Given the description of an element on the screen output the (x, y) to click on. 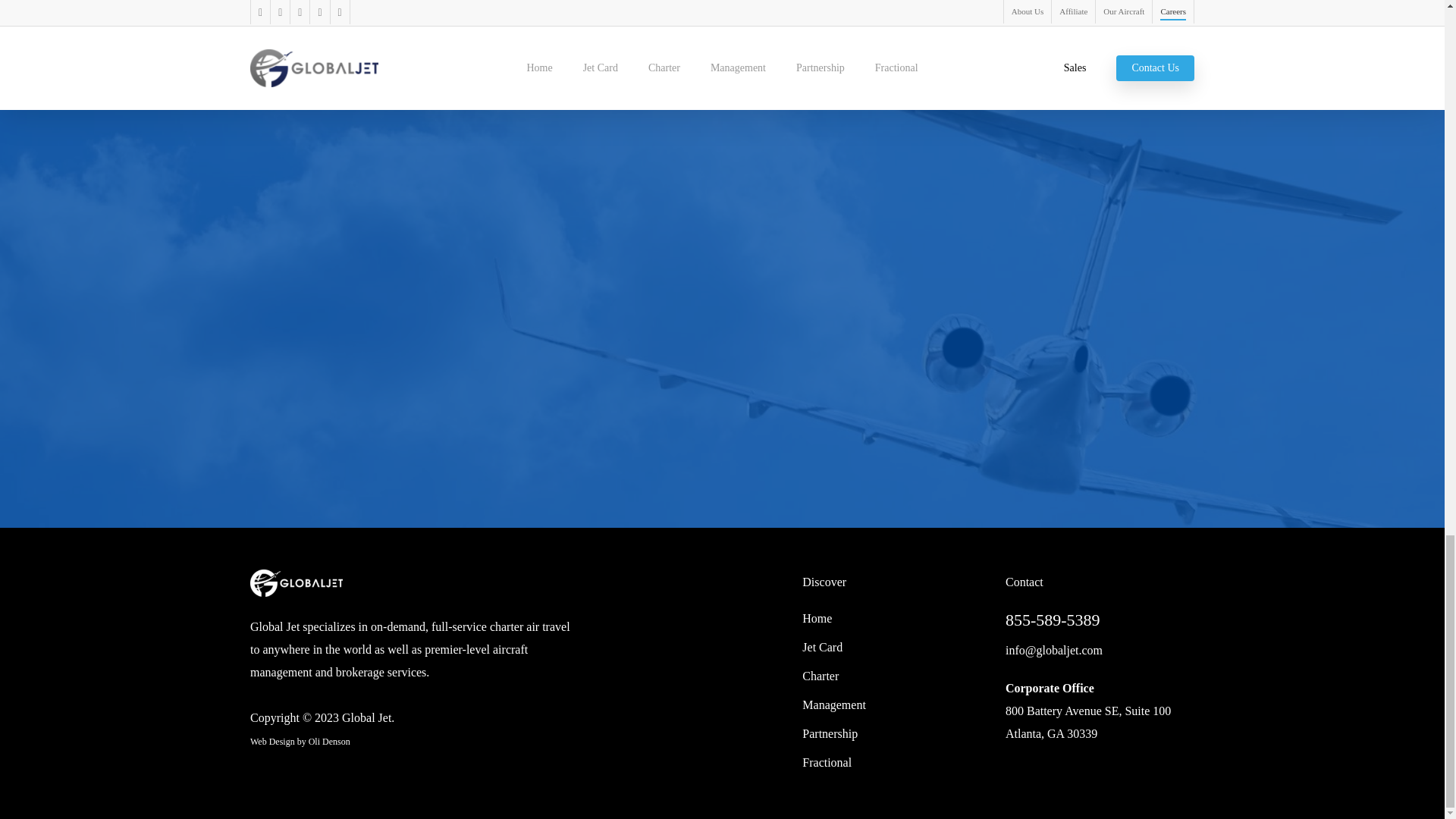
Fractional (894, 762)
Partnership (894, 733)
Oli Denson (329, 741)
Home (894, 618)
Management (894, 704)
Charter (894, 676)
Jet Card (894, 647)
